Given the description of an element on the screen output the (x, y) to click on. 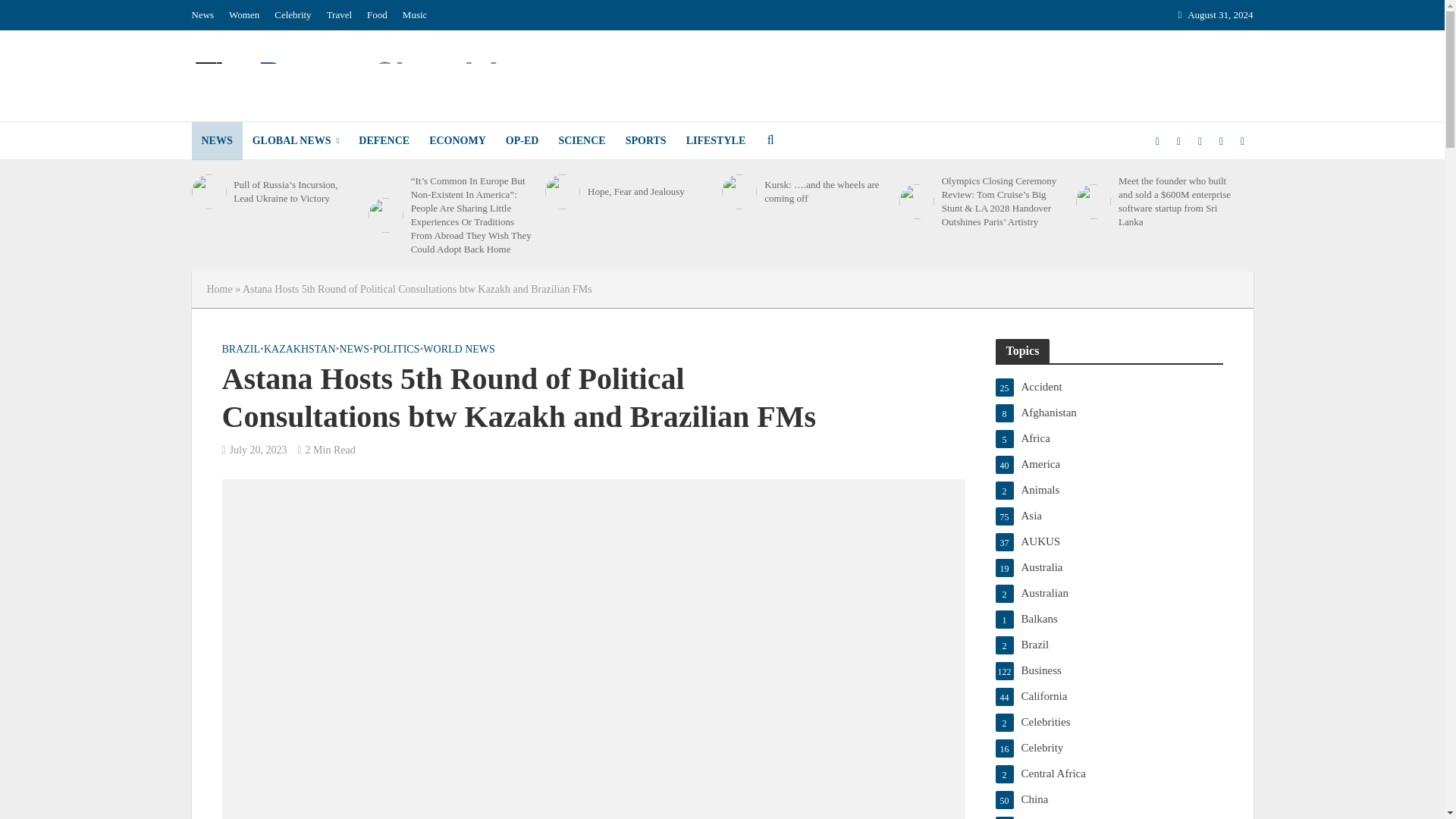
News (205, 15)
Hope, Fear and Jealousy (561, 191)
Celebrity (292, 15)
Women (243, 15)
NEWS (215, 140)
Travel (338, 15)
Music (414, 15)
GLOBAL NEWS (296, 140)
Food (376, 15)
